Given the description of an element on the screen output the (x, y) to click on. 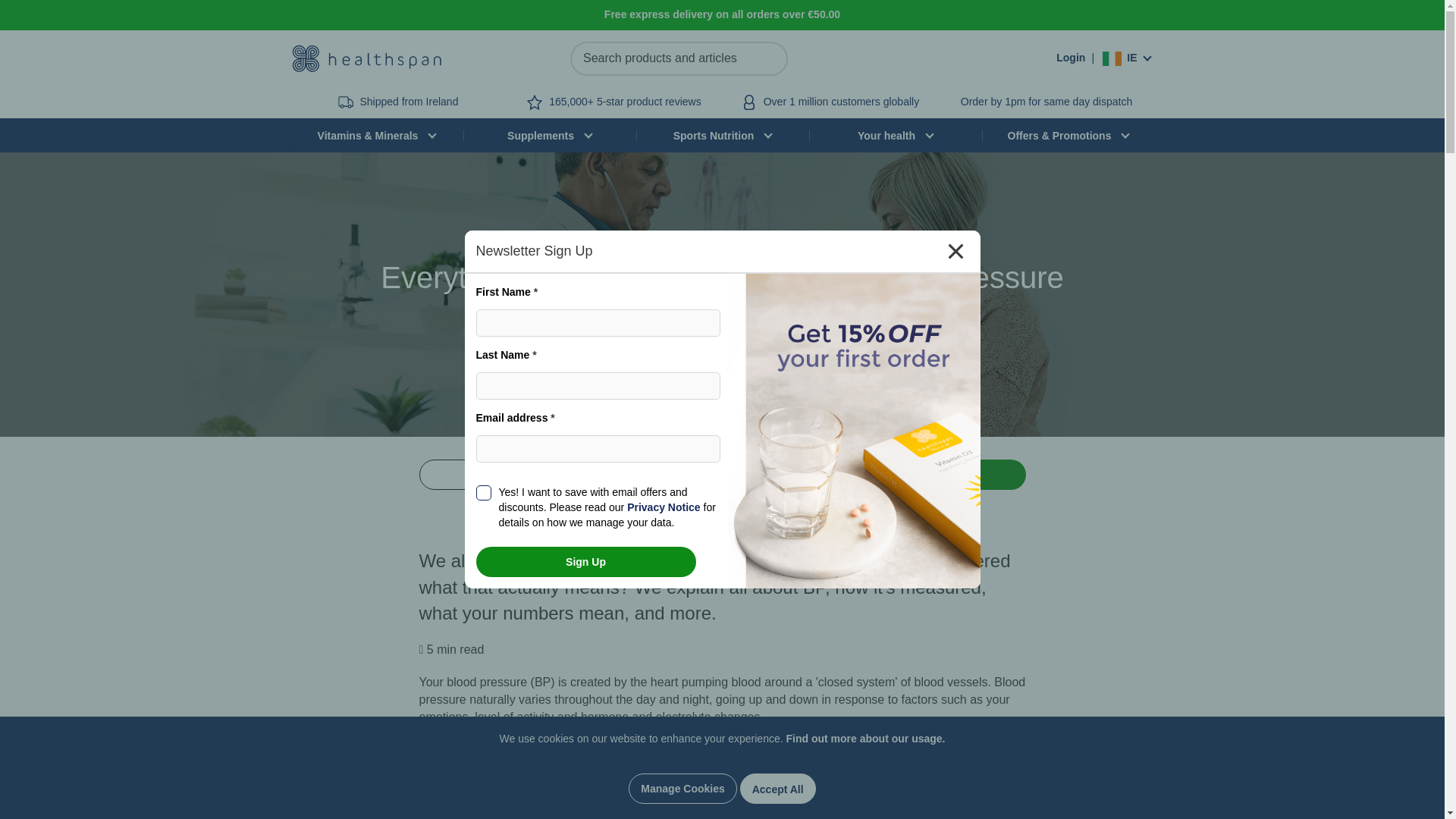
Shipped from Ireland (408, 101)
Close (955, 251)
Delivery information (1046, 101)
Healthspan (365, 57)
 Shipped from Ireland (408, 101)
Sign Up (585, 562)
Sign Up (585, 562)
Login (1070, 57)
Search products and articles (678, 58)
Privacy Notice (663, 507)
Go (769, 58)
Order by 1pm for same day dispatch (1046, 101)
Login (1070, 57)
